Given the description of an element on the screen output the (x, y) to click on. 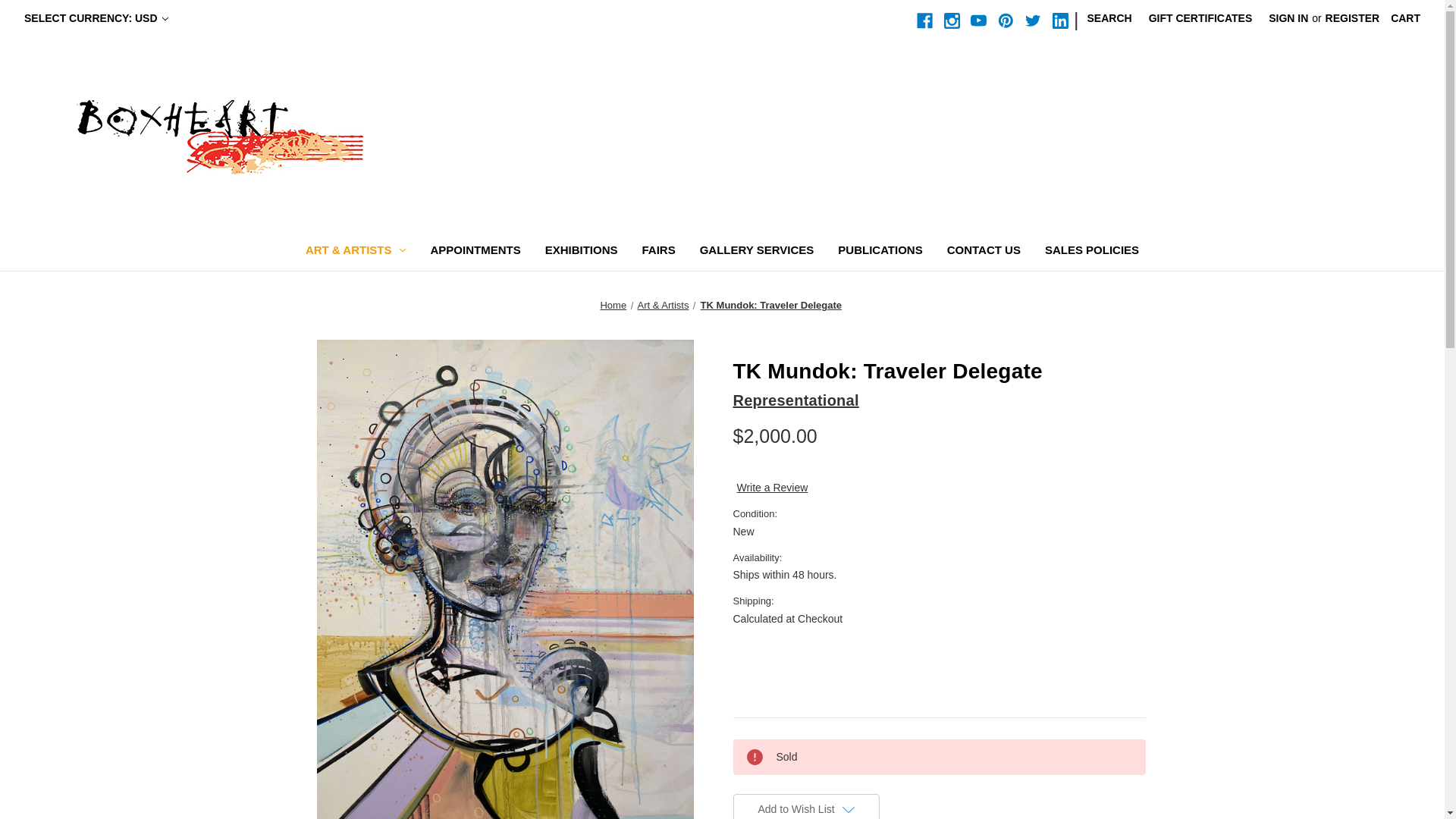
PayPal Message 1 (938, 468)
Instagram (951, 20)
Facebook (925, 20)
Linkedin (1060, 20)
SIGN IN (1288, 18)
Youtube (979, 20)
Pinterest (1005, 20)
GIFT CERTIFICATES (1200, 18)
CART (1404, 18)
SELECT CURRENCY: USD (96, 18)
BoxHeart Gallery (219, 133)
REGISTER (1353, 18)
SEARCH (1109, 18)
Twitter (1033, 20)
